Given the description of an element on the screen output the (x, y) to click on. 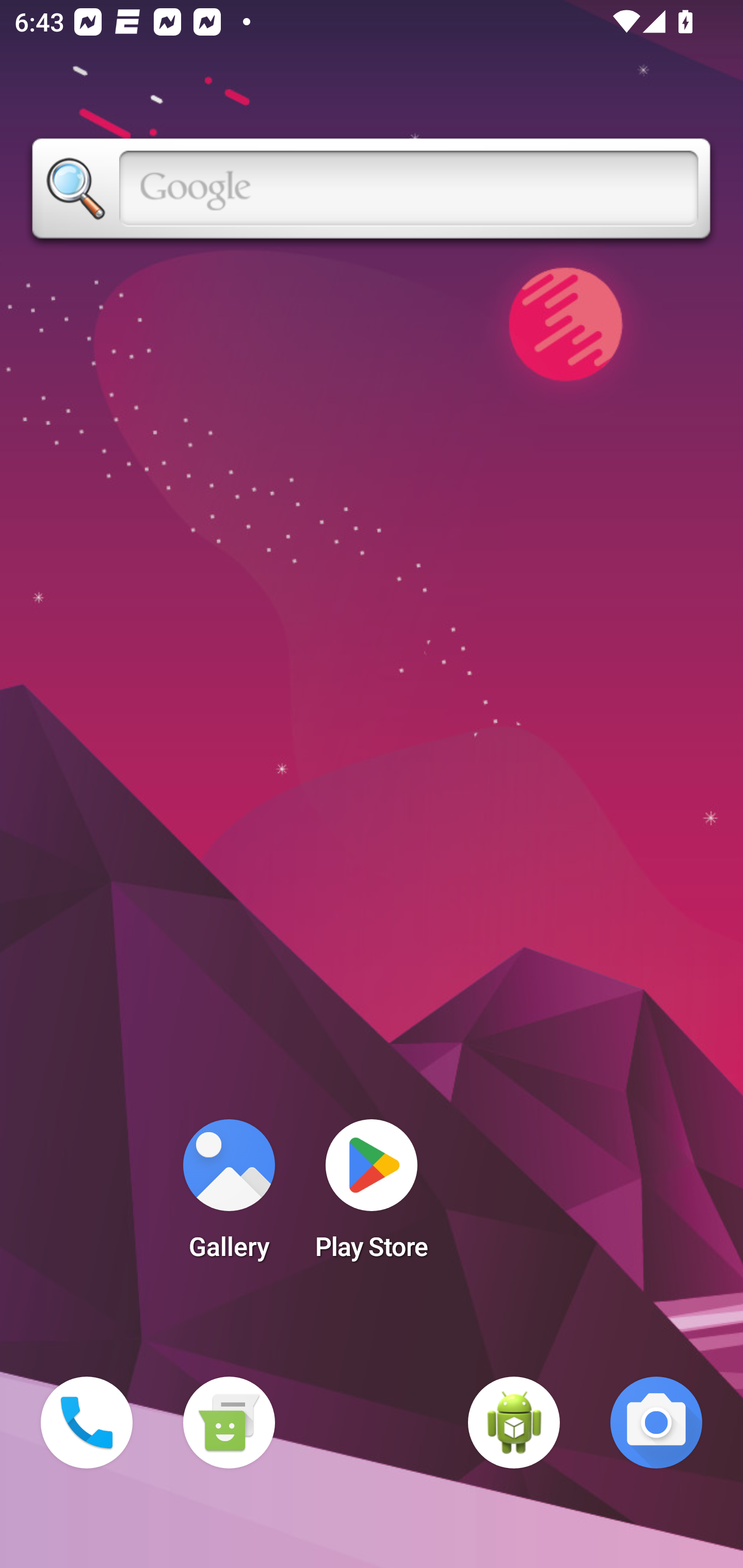
Gallery (228, 1195)
Play Store (371, 1195)
Phone (86, 1422)
Messaging (228, 1422)
WebView Browser Tester (513, 1422)
Camera (656, 1422)
